Given the description of an element on the screen output the (x, y) to click on. 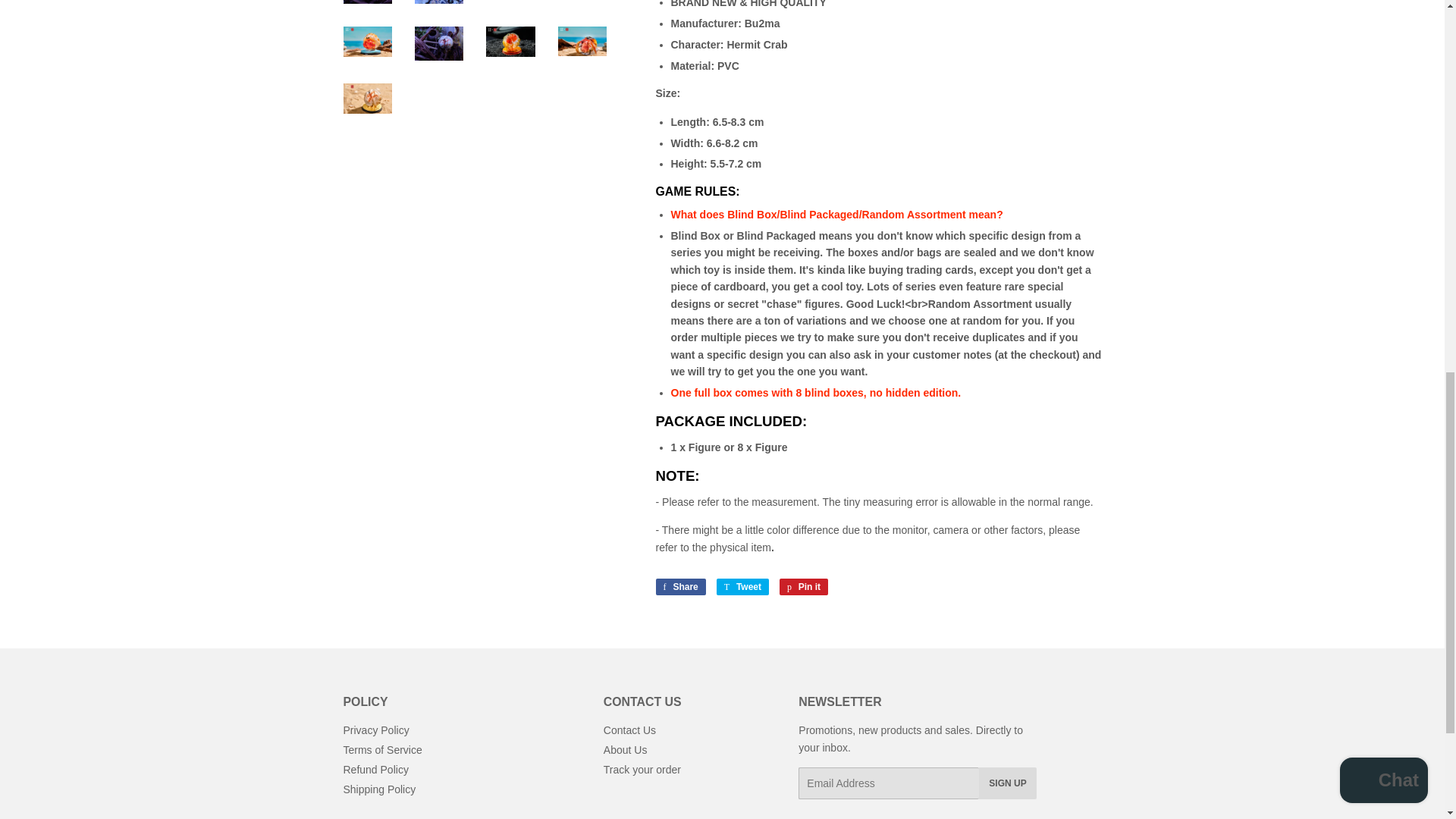
Pin on Pinterest (803, 586)
Share on Facebook (679, 586)
Tweet on Twitter (742, 586)
